Given the description of an element on the screen output the (x, y) to click on. 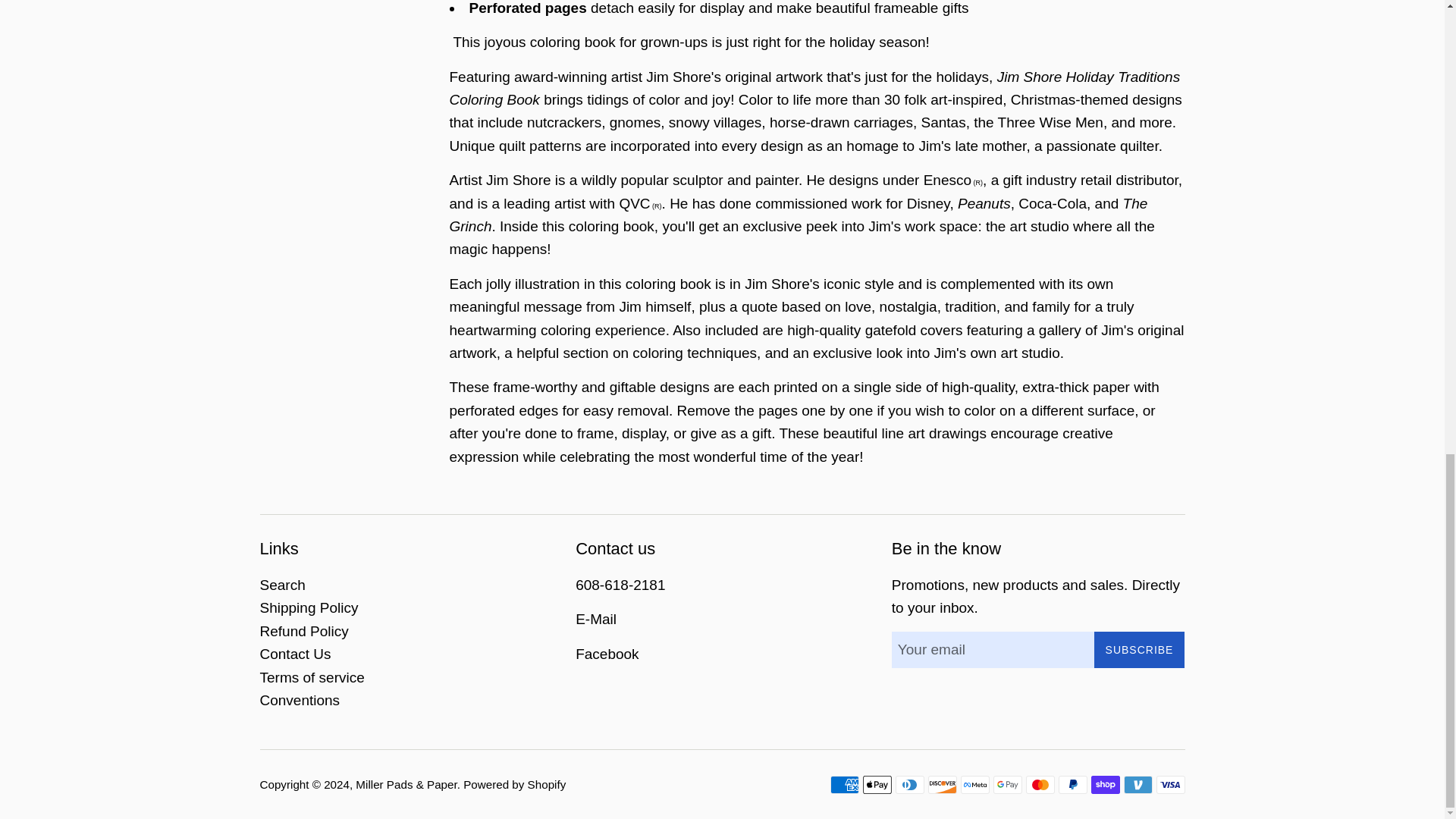
Shop Pay (1104, 784)
Diners Club (909, 784)
Visa (1170, 784)
Mastercard (1039, 784)
American Express (844, 784)
Google Pay (1007, 784)
Discover (942, 784)
Apple Pay (877, 784)
PayPal (1072, 784)
Venmo (1138, 784)
